Given the description of an element on the screen output the (x, y) to click on. 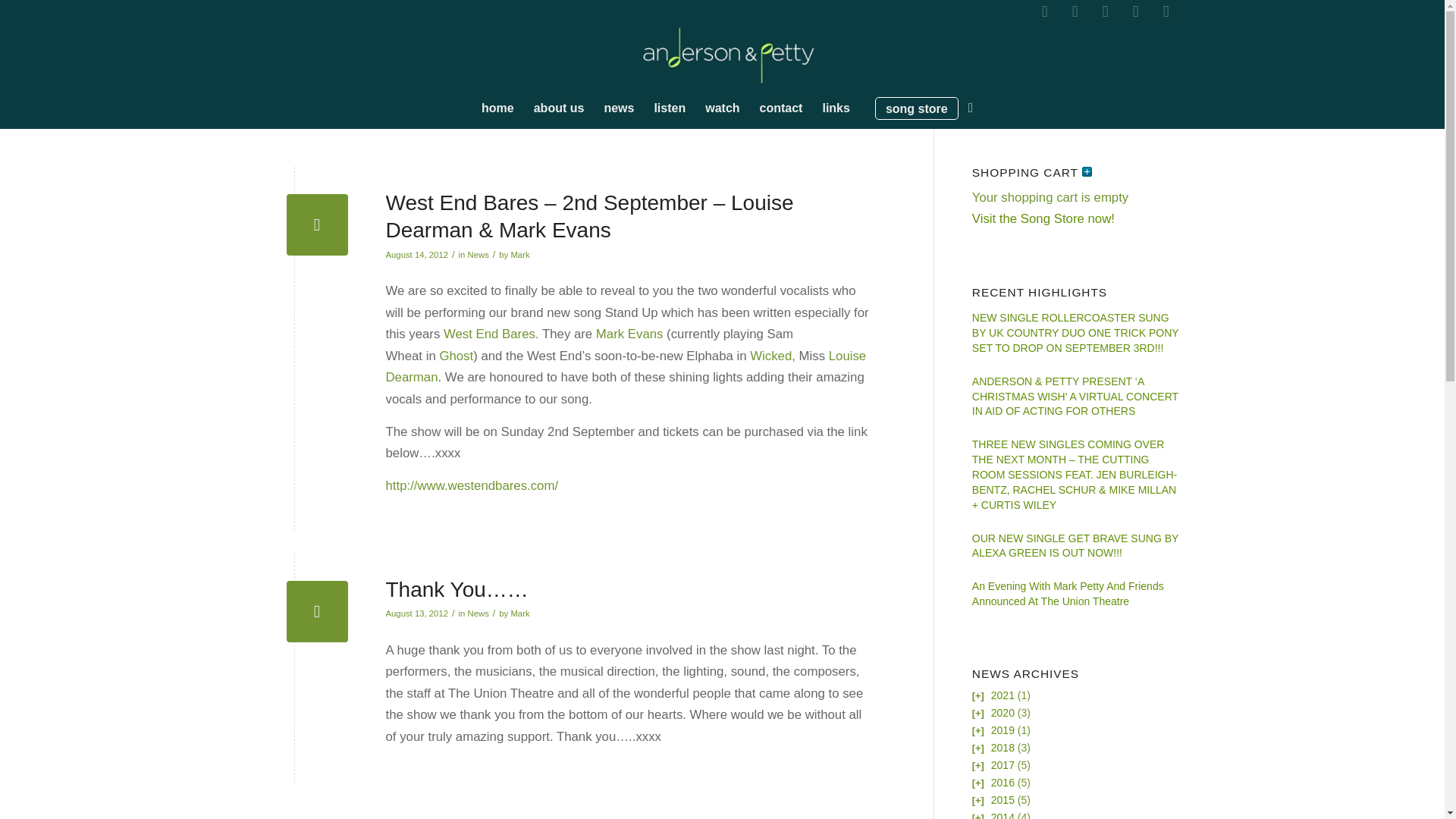
Youtube (1135, 11)
News (477, 613)
song store (917, 116)
Facebook (1043, 11)
News (477, 254)
links (835, 108)
Posts by Mark (520, 254)
Soundcloud (1165, 11)
Mark Evans (629, 333)
